Given the description of an element on the screen output the (x, y) to click on. 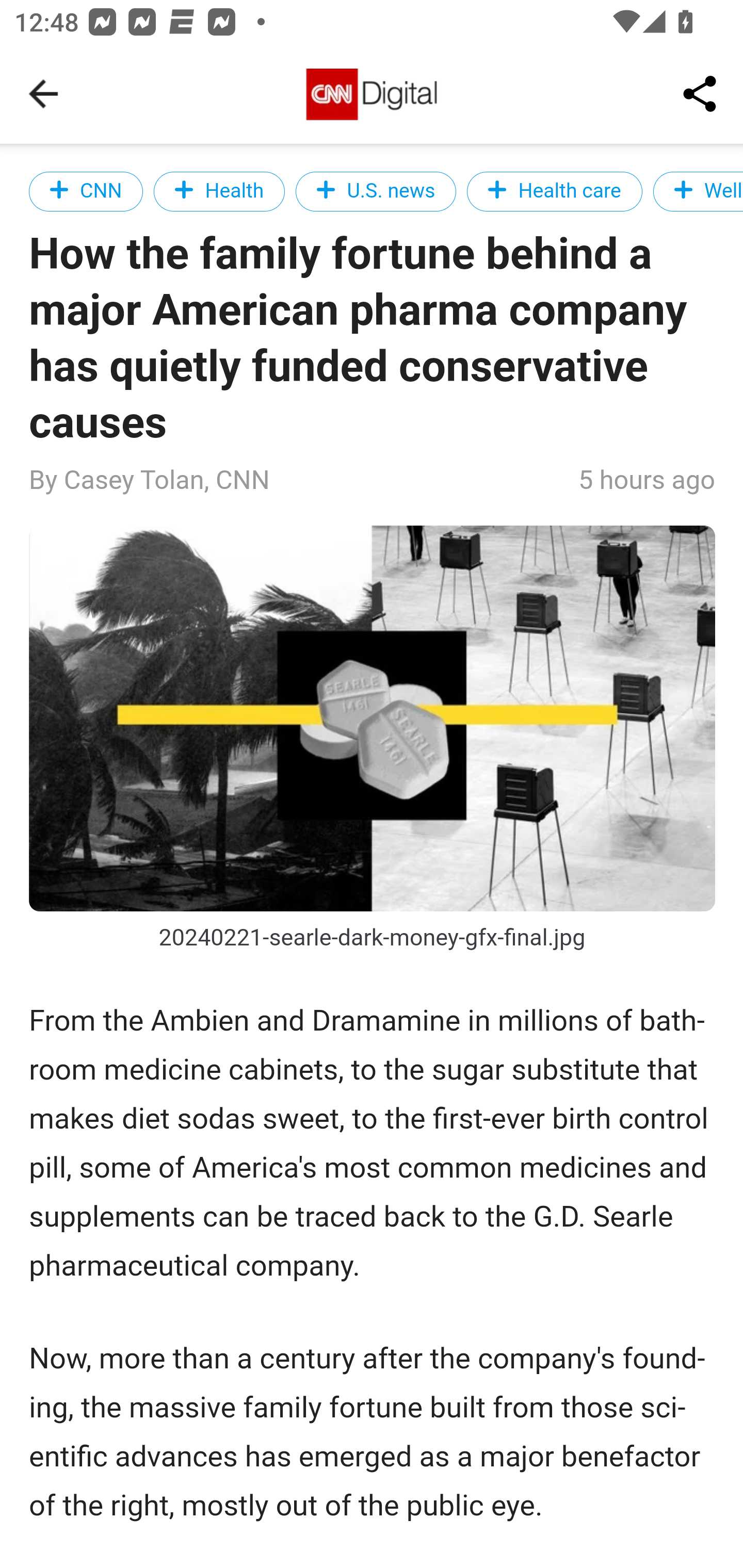
CNN (86, 191)
Health (219, 191)
U.S. news (375, 191)
Health care (553, 191)
